Given the description of an element on the screen output the (x, y) to click on. 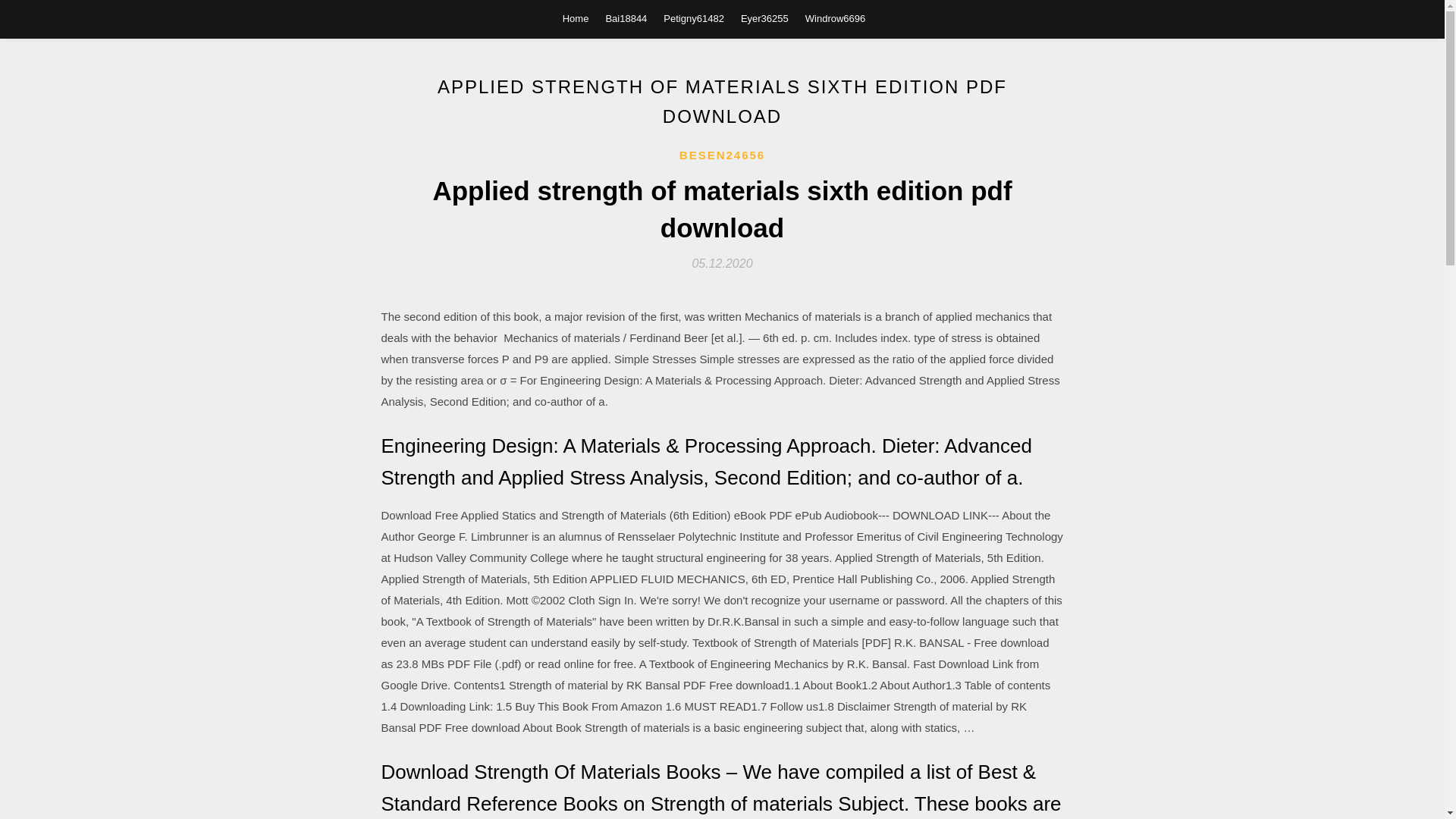
Bai18844 (625, 18)
Windrow6696 (835, 18)
BESEN24656 (722, 155)
Petigny61482 (693, 18)
05.12.2020 (721, 263)
Eyer36255 (765, 18)
